Given the description of an element on the screen output the (x, y) to click on. 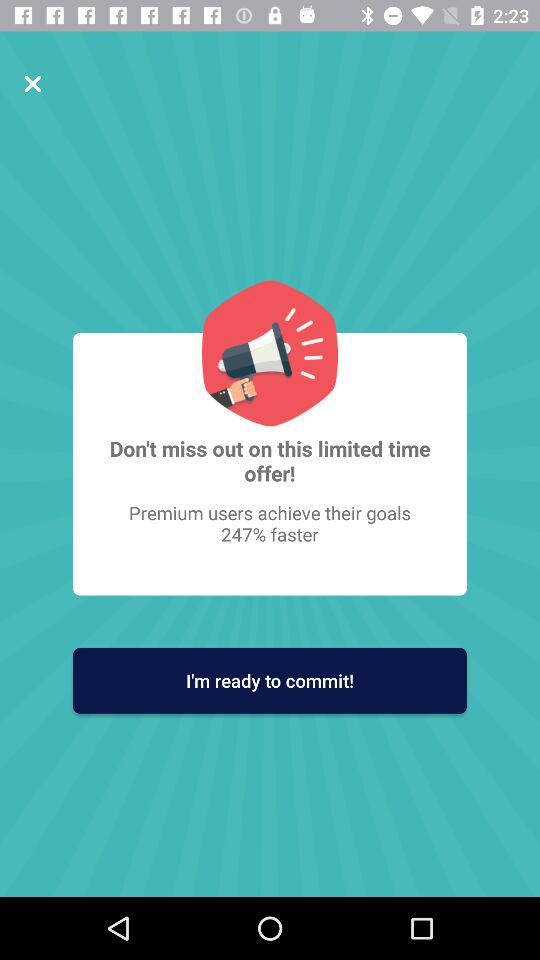
swipe to the i m ready icon (269, 680)
